Given the description of an element on the screen output the (x, y) to click on. 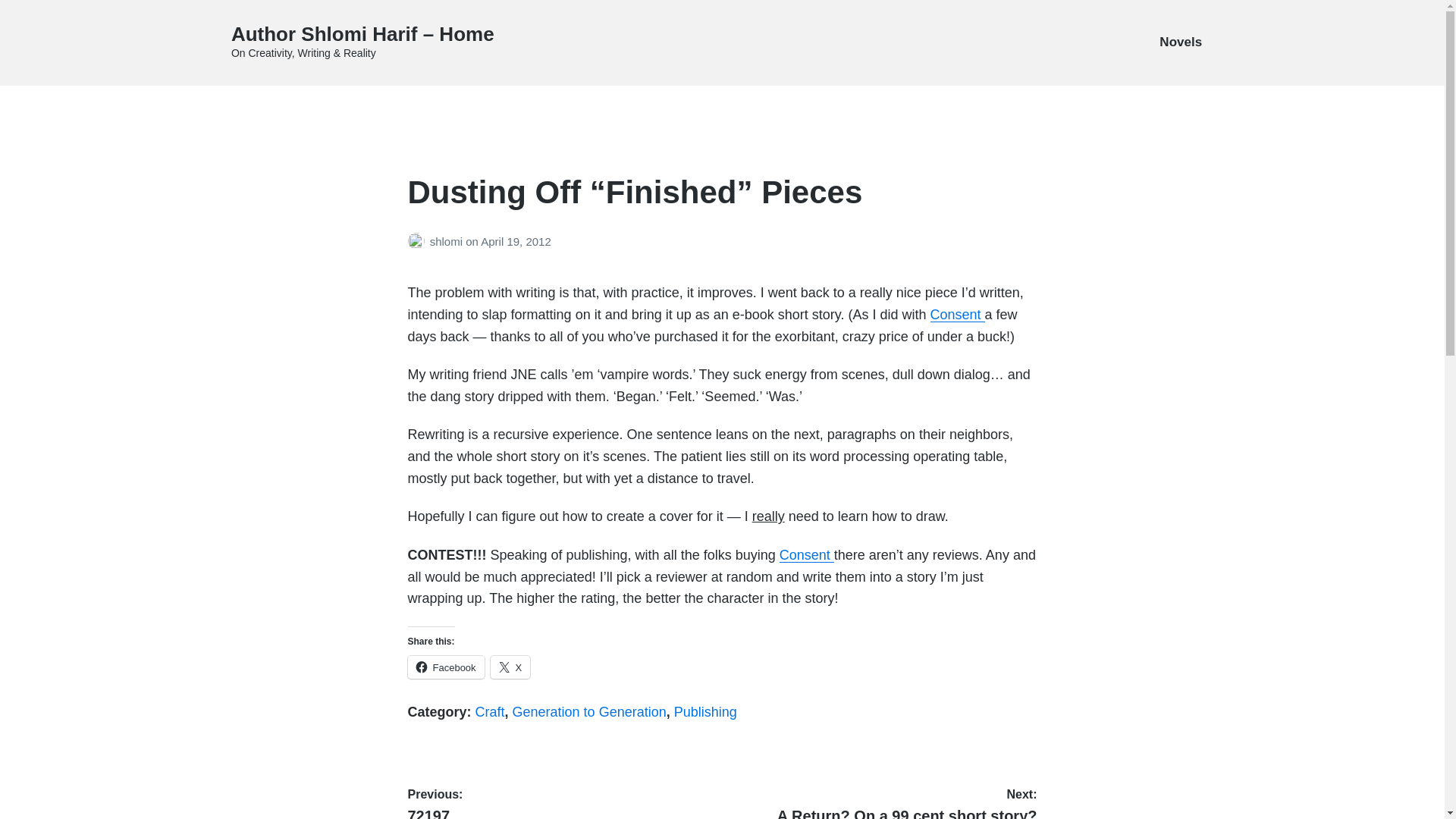
Consent (882, 803)
Craft (561, 803)
Posts by shlomi (957, 314)
Consent (490, 711)
shlomi (418, 241)
X (806, 554)
Facebook (447, 241)
Generation to Generation (510, 667)
